Given the description of an element on the screen output the (x, y) to click on. 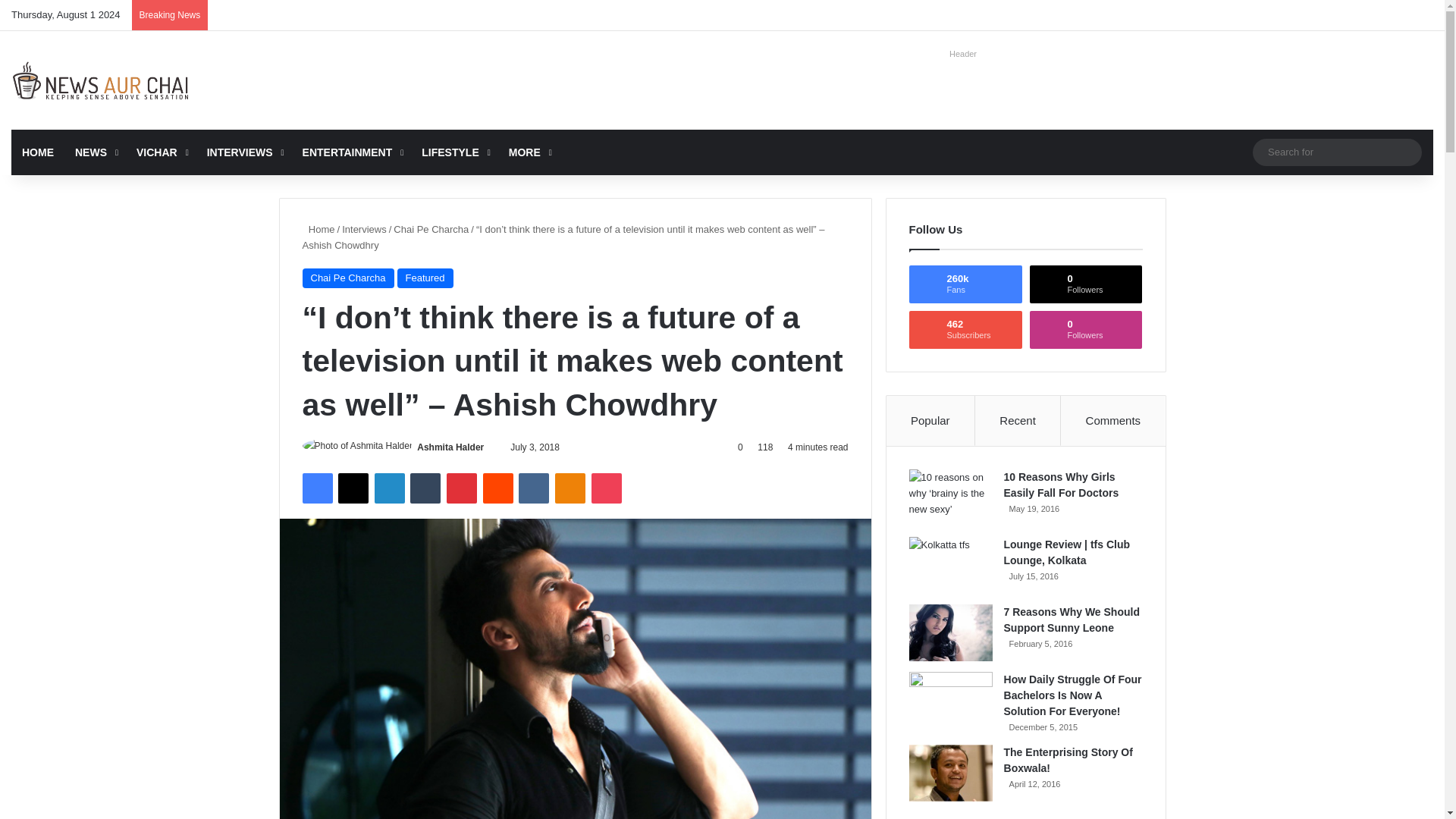
Tumblr (425, 488)
Search for (1337, 151)
VICHAR (160, 152)
INTERVIEWS (244, 152)
Facebook (316, 488)
NEWS (94, 152)
LinkedIn (389, 488)
Ashmita Halder (449, 447)
Reddit (498, 488)
Pinterest (461, 488)
News Aur Chai (100, 80)
HOME (37, 152)
X (352, 488)
